Given the description of an element on the screen output the (x, y) to click on. 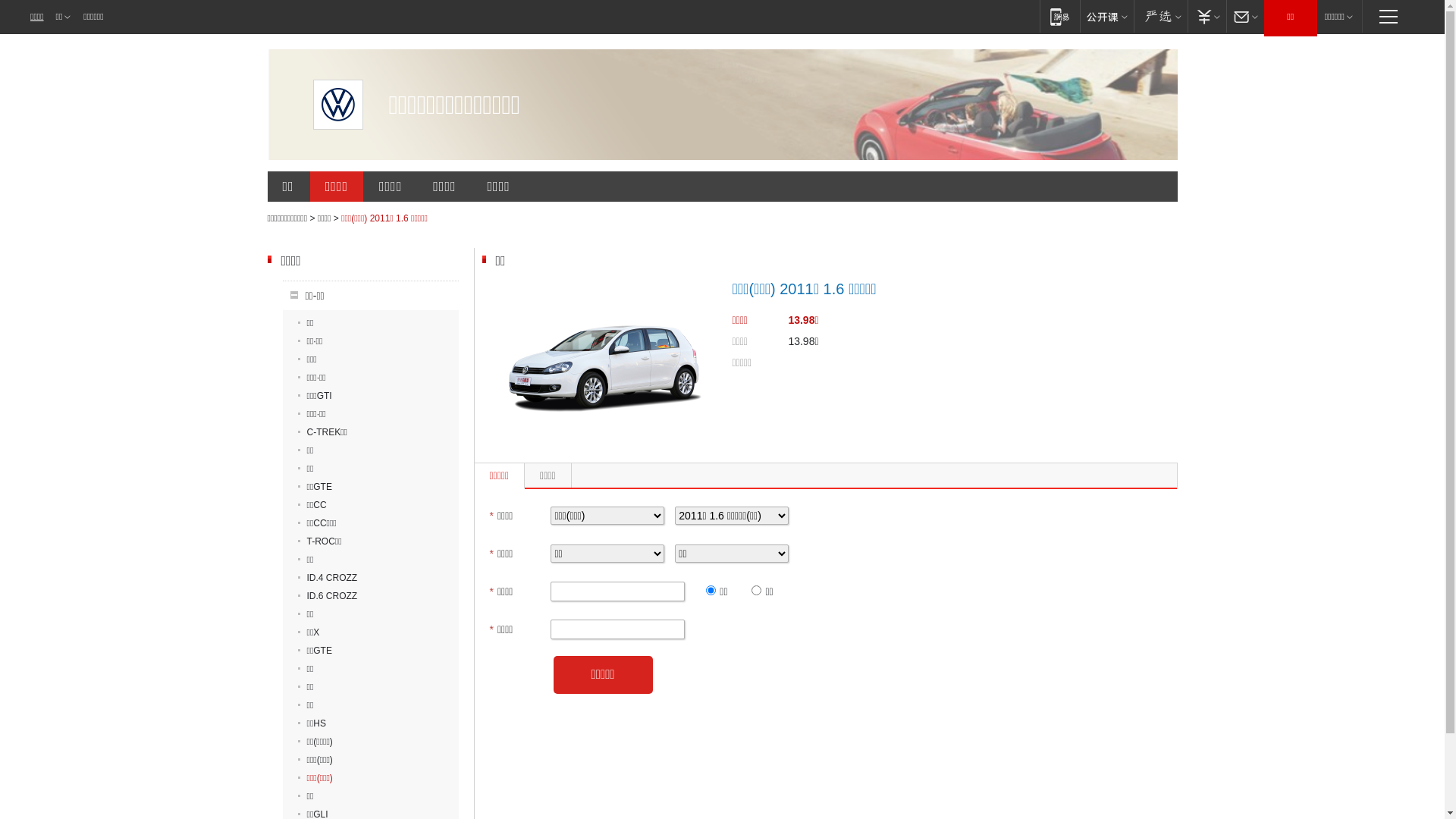
ID.4 CROZZ Element type: text (327, 577)
ID.6 CROZZ Element type: text (327, 595)
